Given the description of an element on the screen output the (x, y) to click on. 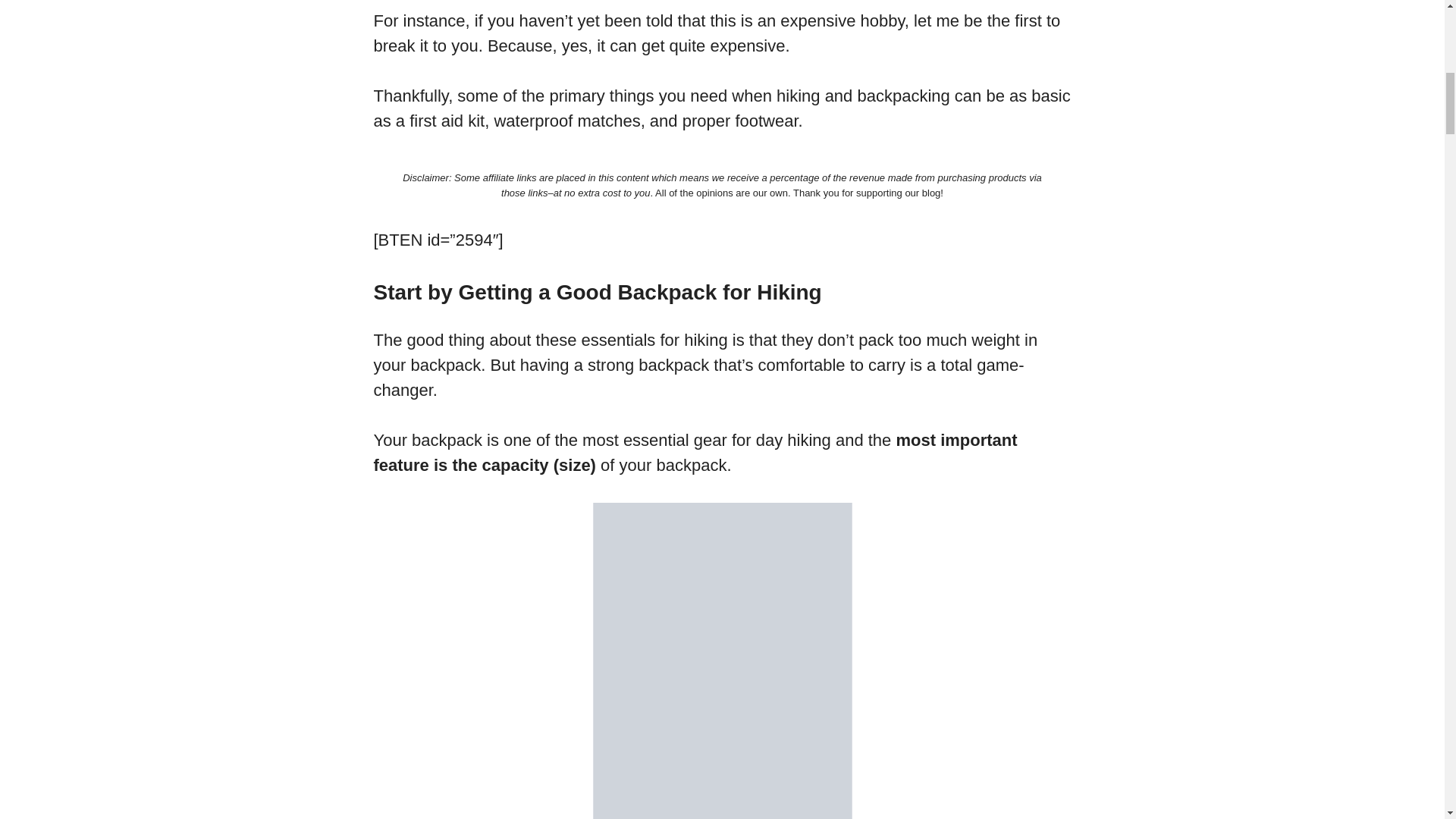
Scroll back to top (1406, 720)
